Given the description of an element on the screen output the (x, y) to click on. 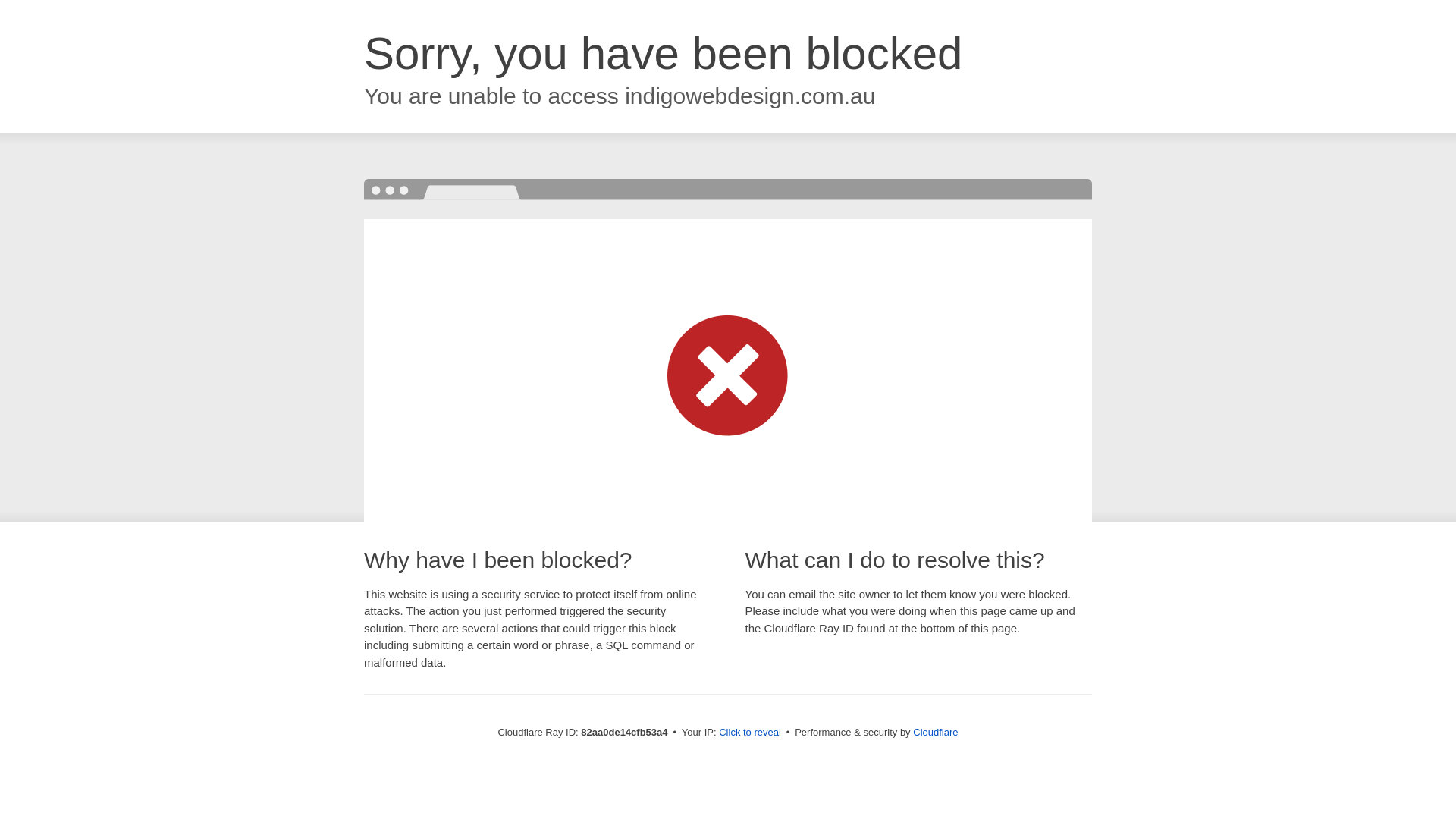
Cloudflare Element type: text (935, 731)
Click to reveal Element type: text (749, 732)
